Given the description of an element on the screen output the (x, y) to click on. 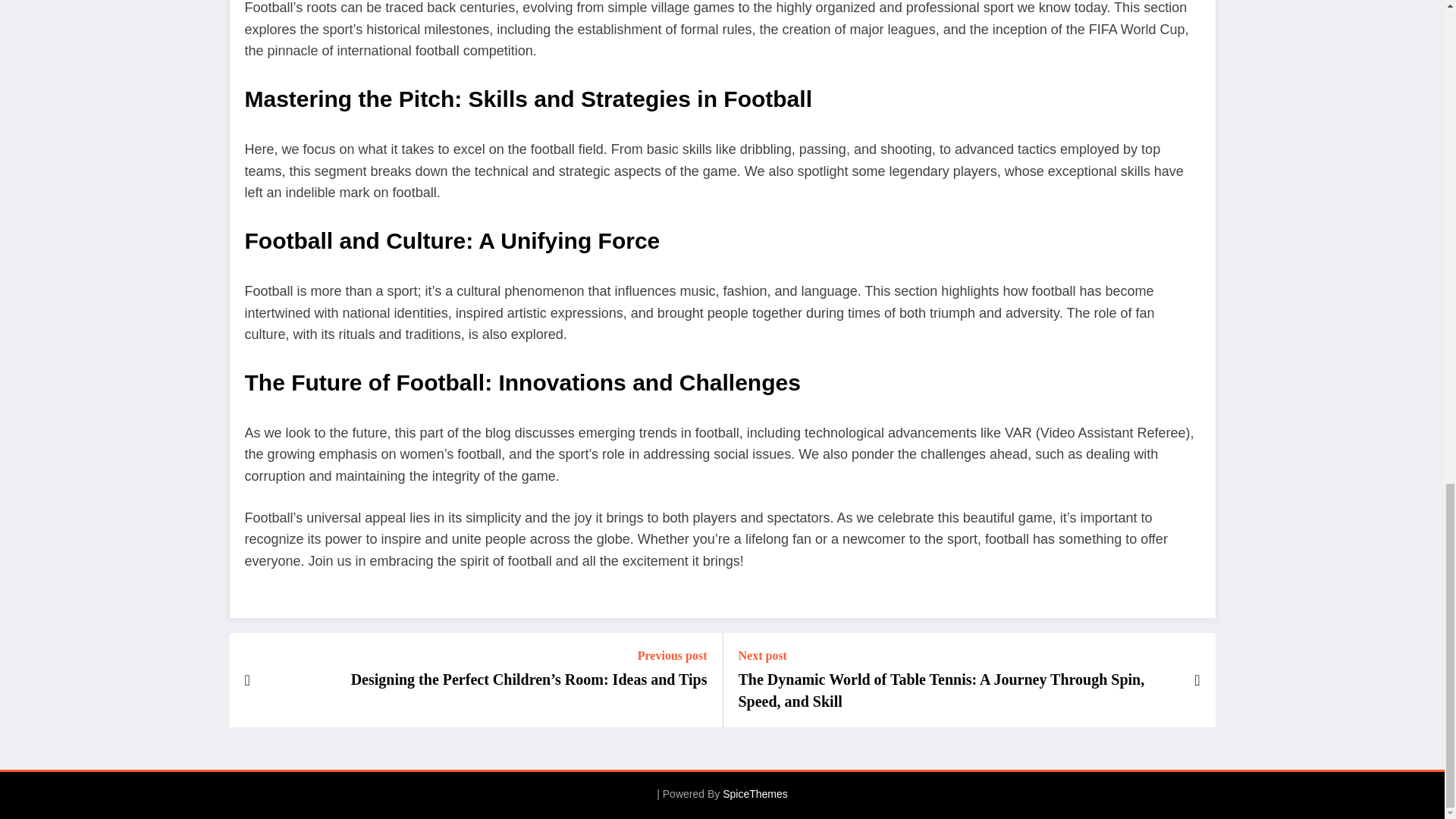
Previous post (528, 655)
Next post (957, 655)
SpiceThemes (754, 793)
Previous post (528, 655)
Next post (957, 655)
